Given the description of an element on the screen output the (x, y) to click on. 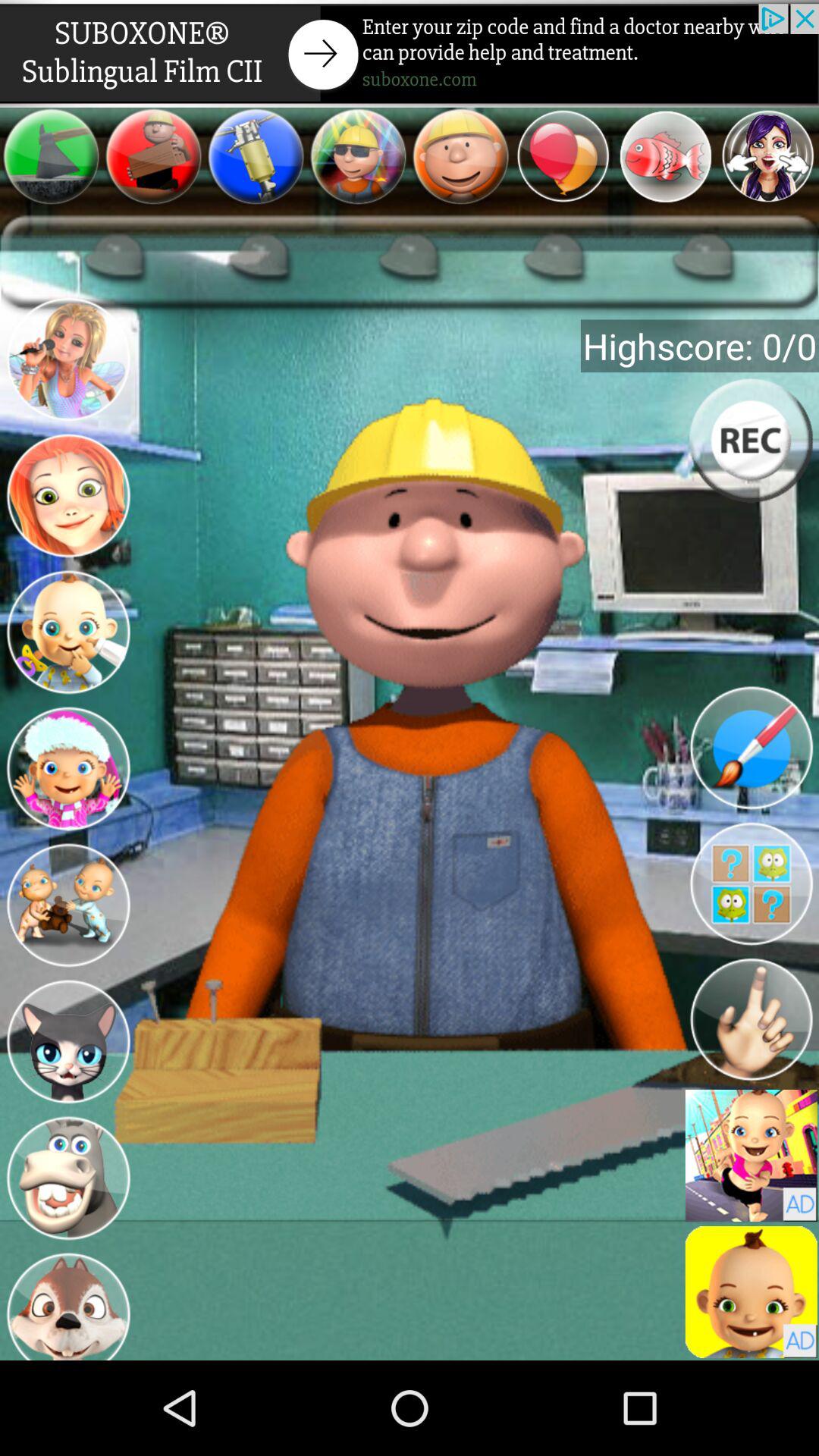
toggle a select option (751, 1291)
